Given the description of an element on the screen output the (x, y) to click on. 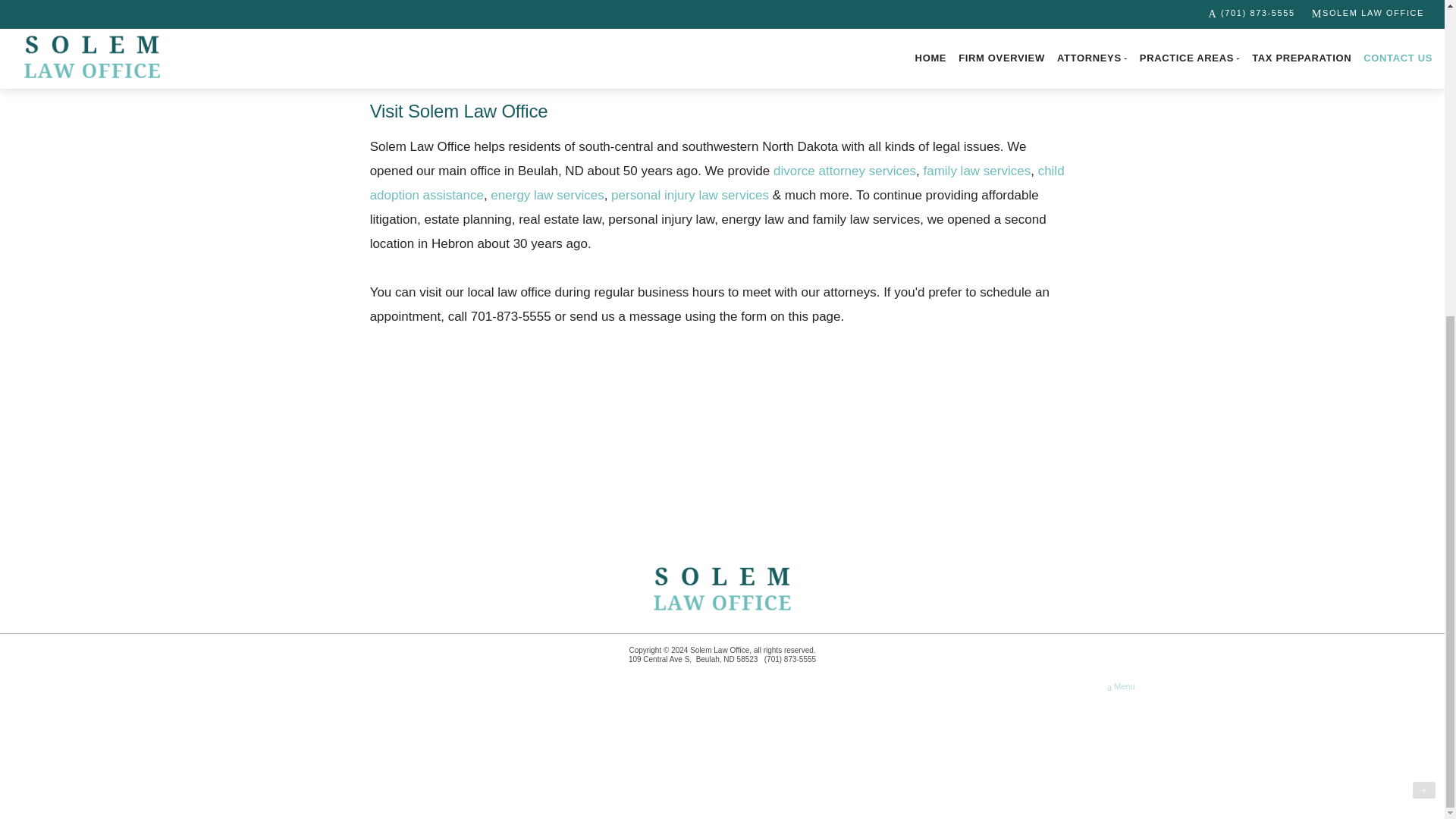
Solem Law Office (721, 590)
Menu (1120, 686)
family law services (976, 170)
energy law services (547, 195)
Open Menu (1120, 686)
child adoption assistance (716, 182)
divorce attorney services (844, 170)
personal injury law services (689, 195)
